Given the description of an element on the screen output the (x, y) to click on. 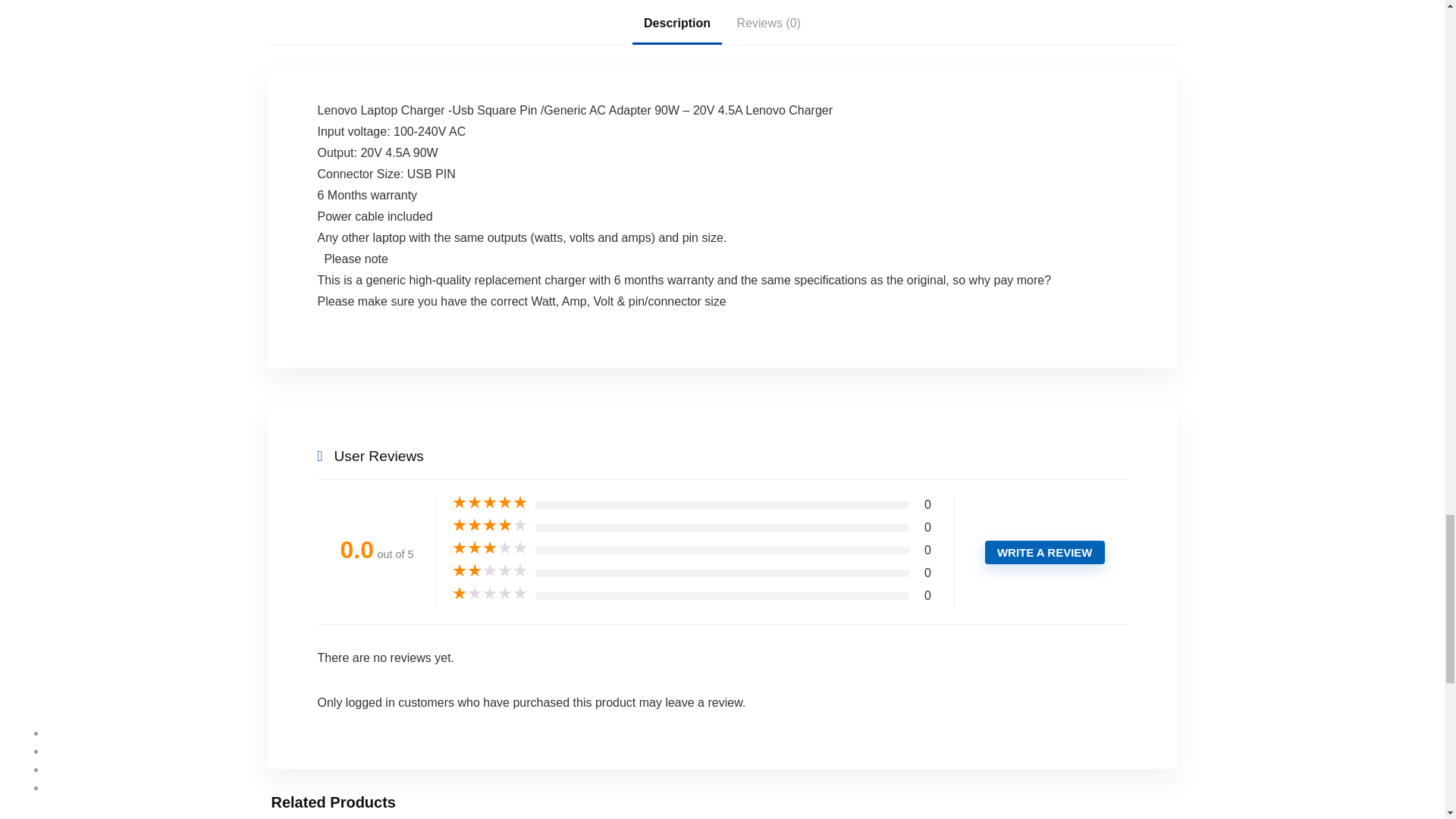
Rated 2 out of 5 (489, 570)
Rated 4 out of 5 (489, 525)
Rated 3 out of 5 (489, 548)
WRITE A REVIEW (1045, 552)
Description (676, 23)
Rated 5 out of 5 (489, 502)
Rated 1 out of 5 (489, 593)
